Given the description of an element on the screen output the (x, y) to click on. 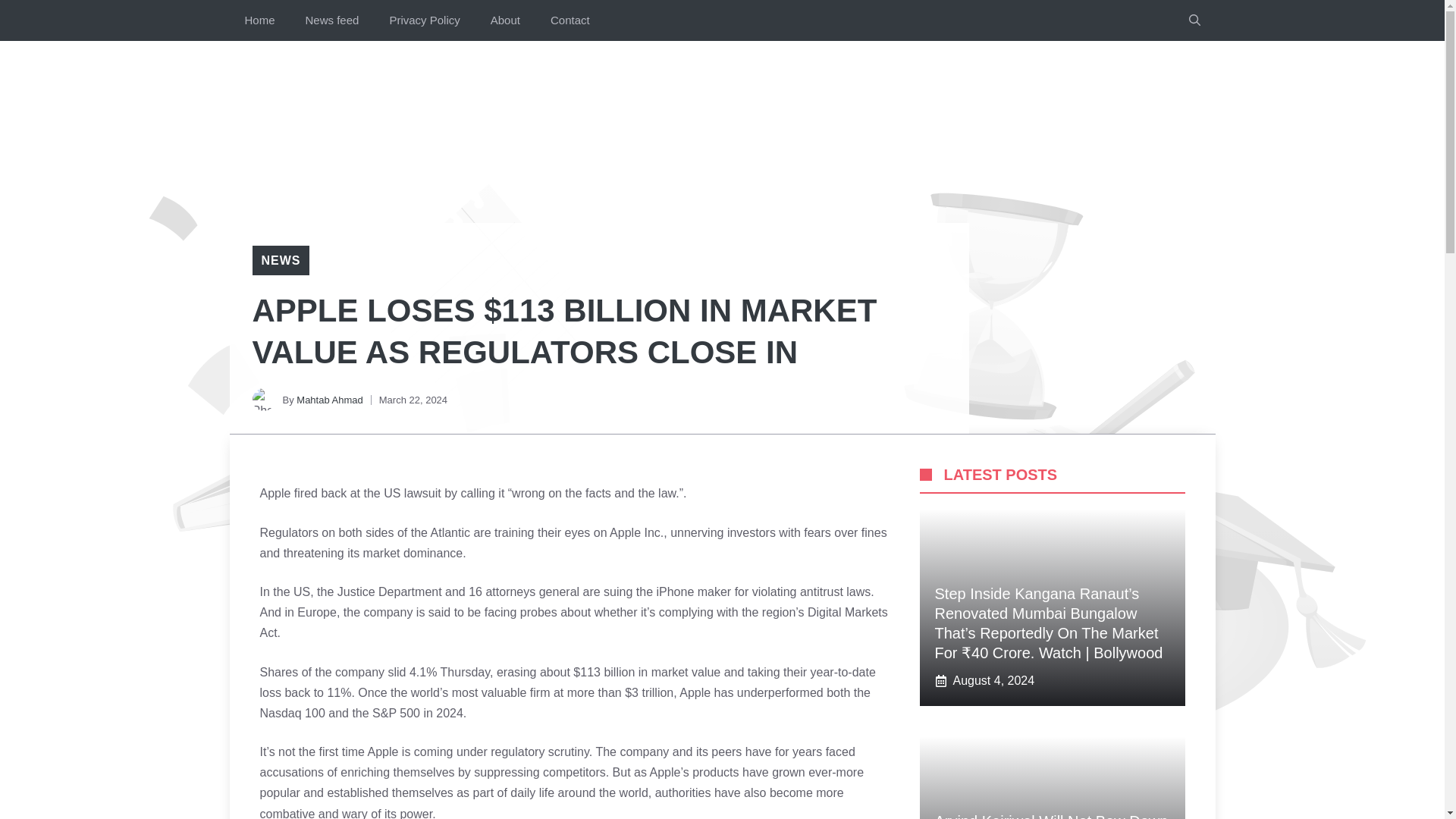
About (505, 20)
Privacy Policy (424, 20)
NEWS (279, 259)
Mahtab Ahmad (329, 399)
Contact (570, 20)
Home (258, 20)
News feed (331, 20)
